Given the description of an element on the screen output the (x, y) to click on. 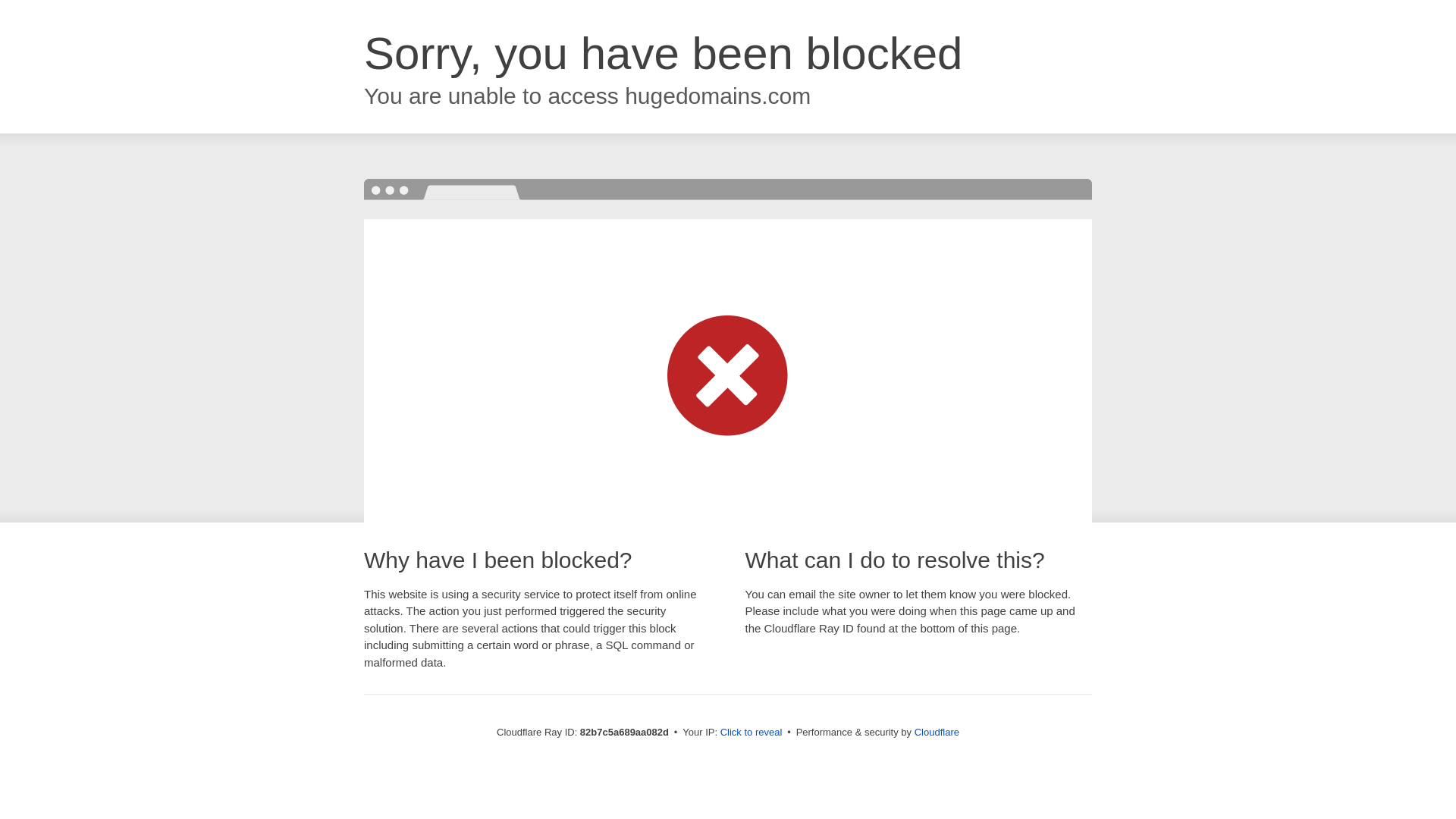
Cloudflare Element type: text (936, 731)
Click to reveal Element type: text (751, 732)
